Given the description of an element on the screen output the (x, y) to click on. 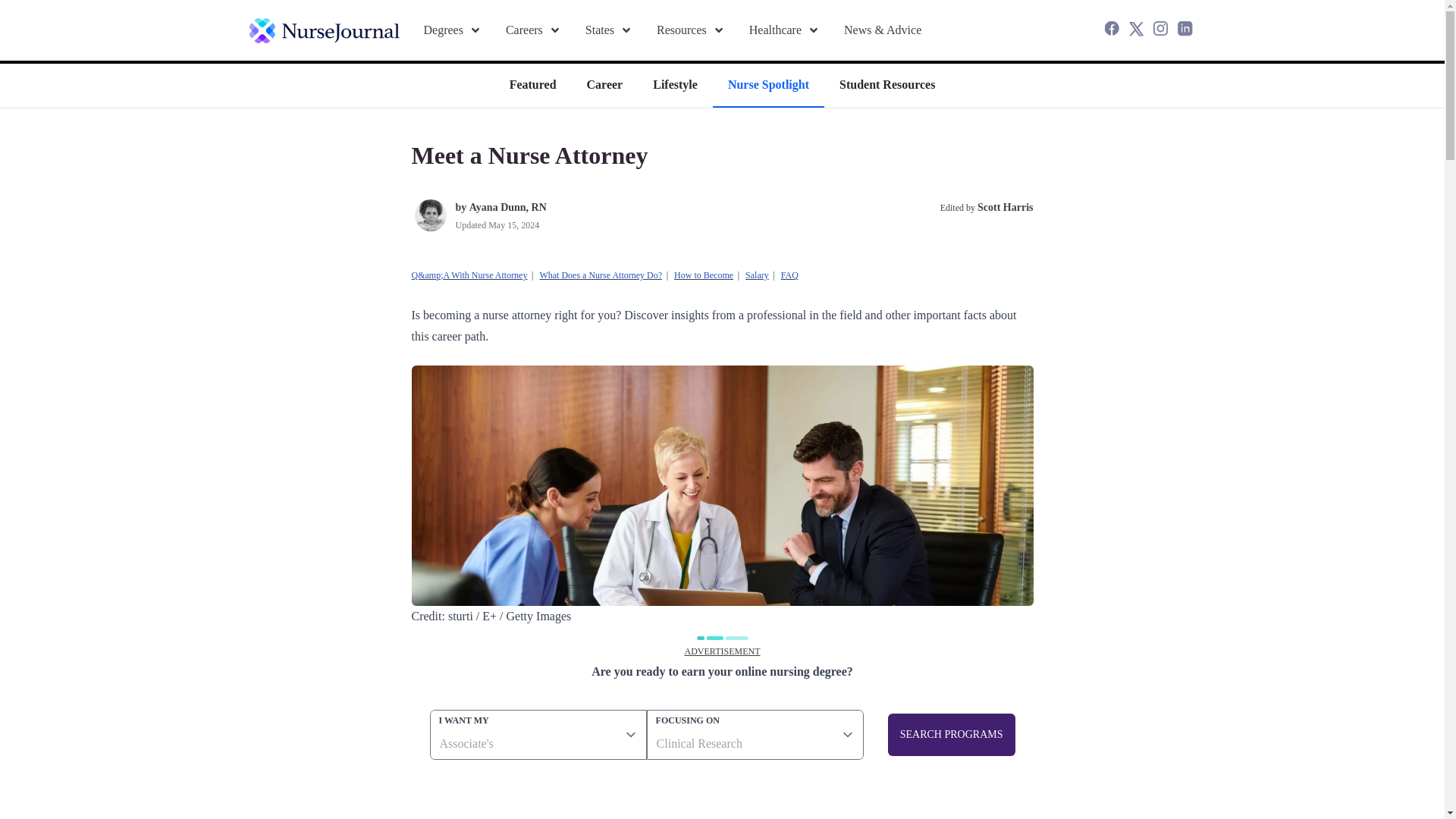
Degrees (451, 30)
Careers (532, 30)
